Given the description of an element on the screen output the (x, y) to click on. 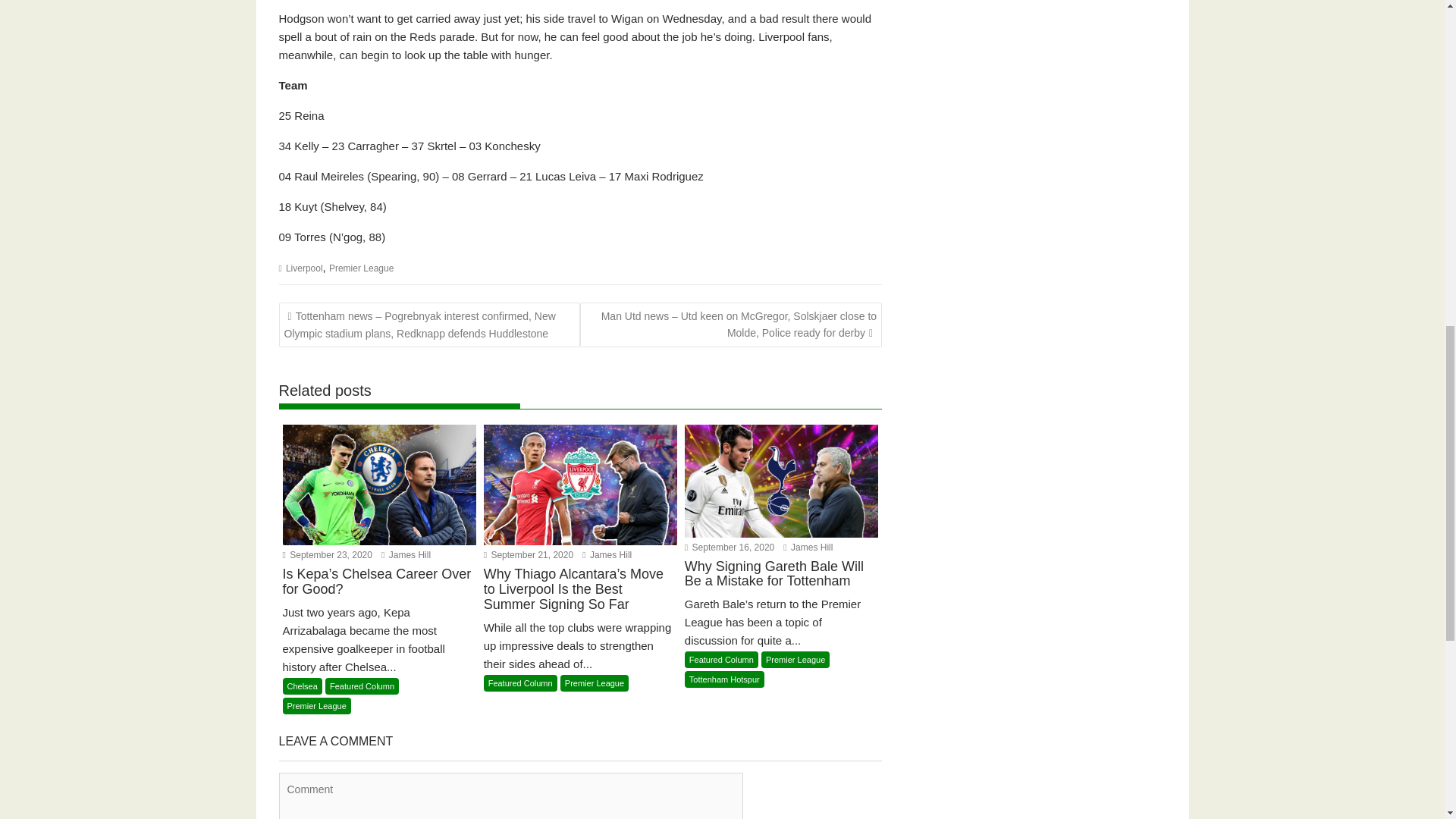
James Hill (807, 547)
September 16, 2020 (729, 547)
James Hill (405, 554)
Premier League (361, 267)
James Hill (606, 554)
Featured Column (520, 682)
Premier League (594, 682)
Featured Column (721, 659)
Premier League (316, 705)
James Hill (405, 554)
Why Signing Gareth Bale Will Be a Mistake for Tottenham (780, 584)
Premier League (795, 659)
Featured Column (361, 686)
Chelsea (301, 686)
September 23, 2020 (326, 554)
